Given the description of an element on the screen output the (x, y) to click on. 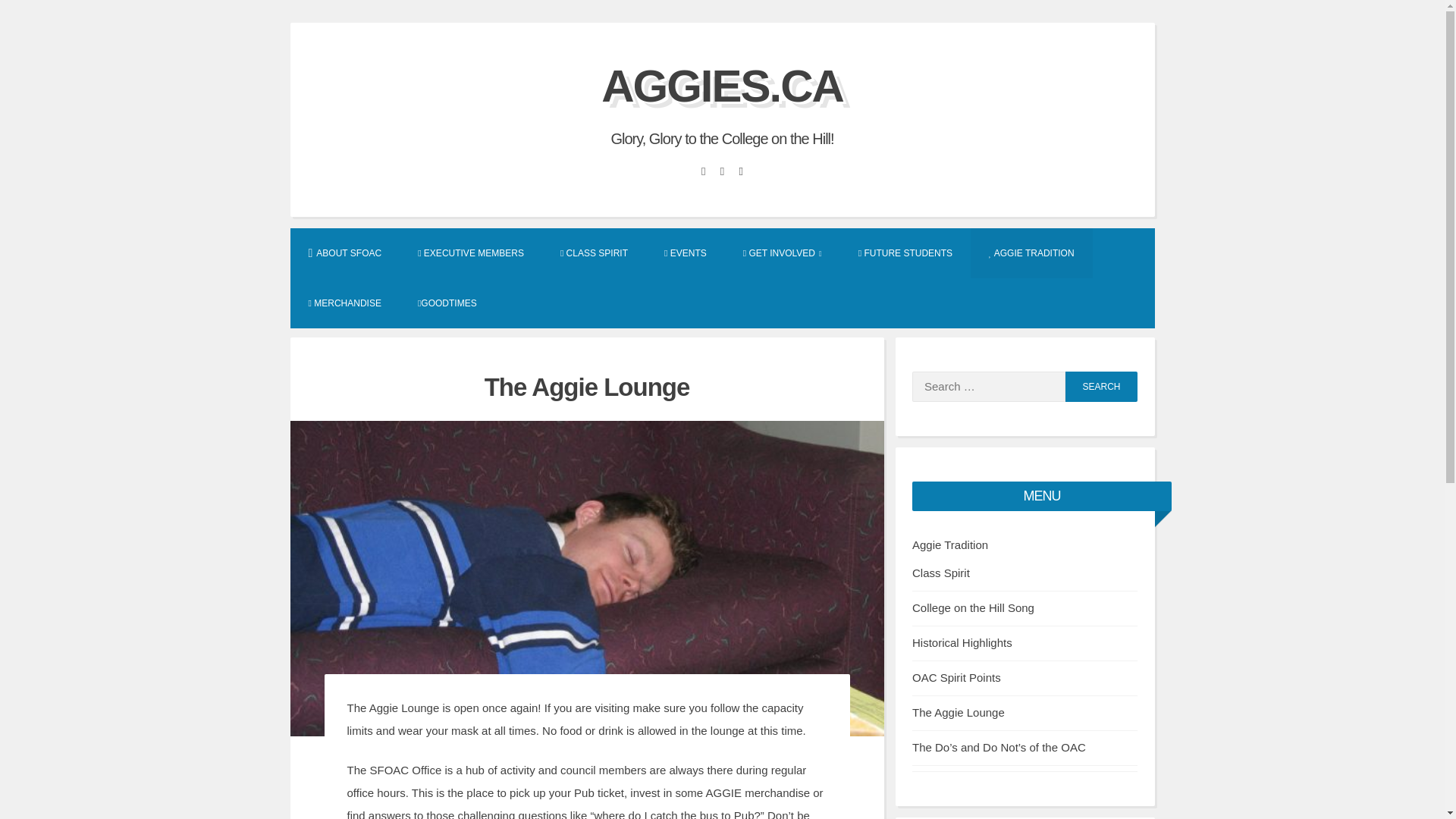
Search (1101, 386)
ABOUT SFOAC (343, 252)
GOODTIMES (446, 302)
Search (1101, 386)
Class Spirit (940, 572)
CLASS SPIRIT (593, 252)
EVENTS (685, 252)
Aggie Tradition (950, 544)
College on the Hill Song (972, 607)
AGGIE TRADITION (1031, 252)
Search (1101, 386)
GET INVOLVED (782, 252)
EXECUTIVE MEMBERS (469, 252)
AGGIES.CA (722, 85)
